Given the description of an element on the screen output the (x, y) to click on. 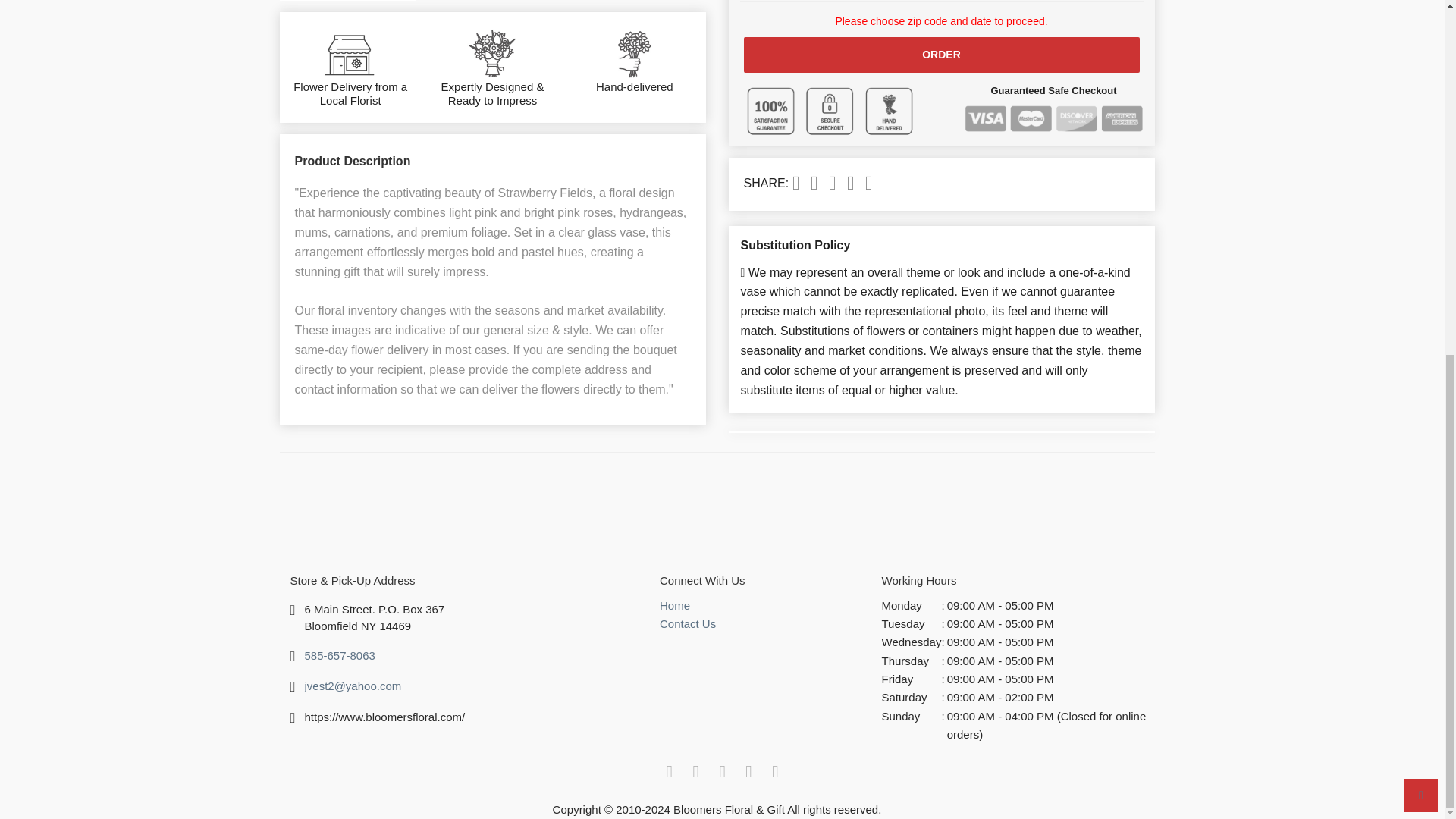
Strawberry Fields Flower Arrangement (347, 0)
